Given the description of an element on the screen output the (x, y) to click on. 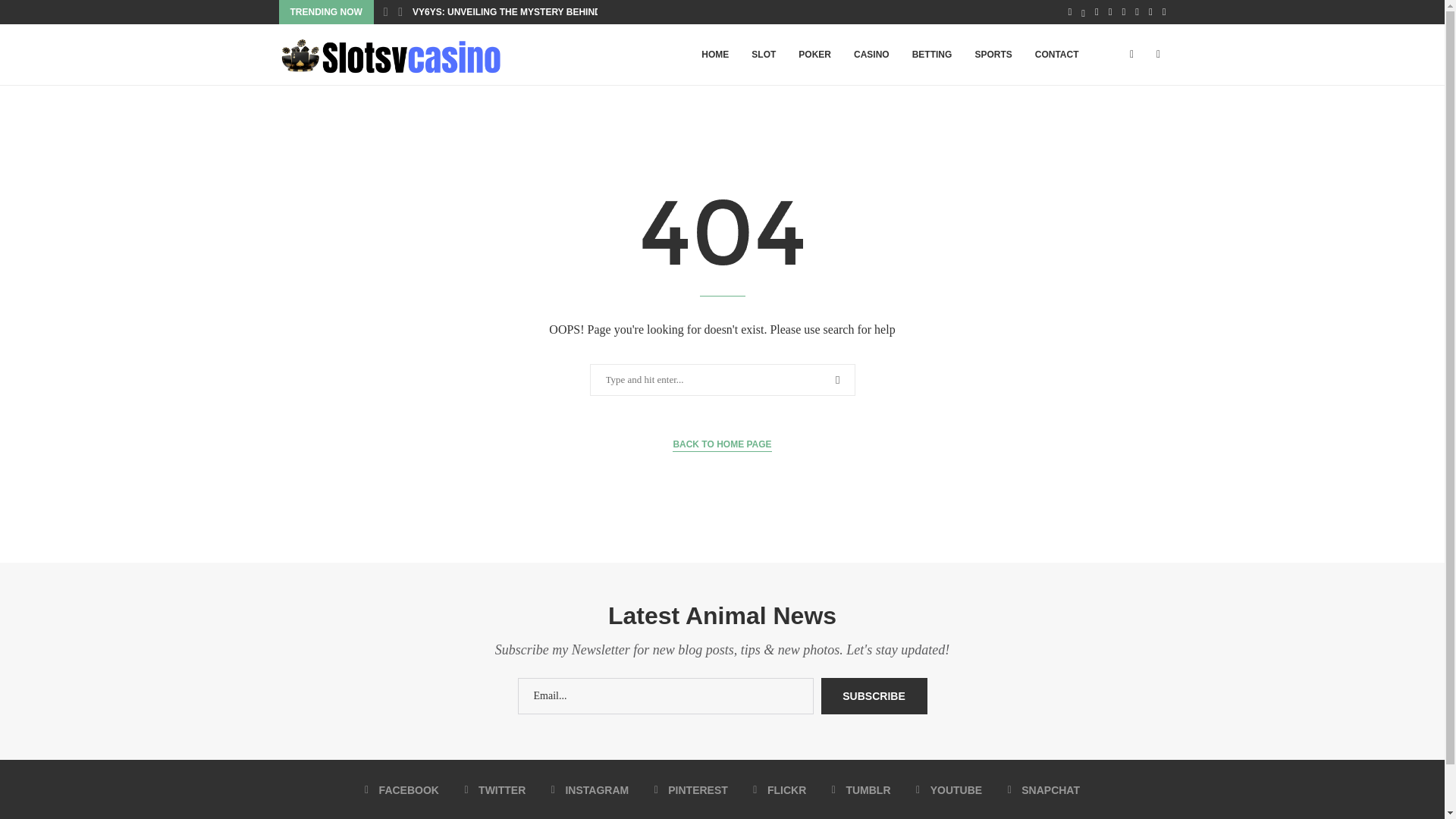
PINTEREST (690, 789)
BETTING (932, 54)
POKER (815, 54)
CASINO (872, 54)
INSTAGRAM (589, 789)
Search (35, 15)
Subscribe (873, 696)
BACK TO HOME PAGE (721, 444)
FLICKR (779, 789)
VY6YS: UNVEILING THE MYSTERY BEHIND THE CODE (531, 12)
TWITTER (494, 789)
SPORTS (992, 54)
CONTACT (1056, 54)
Subscribe (873, 696)
FACEBOOK (402, 789)
